Given the description of an element on the screen output the (x, y) to click on. 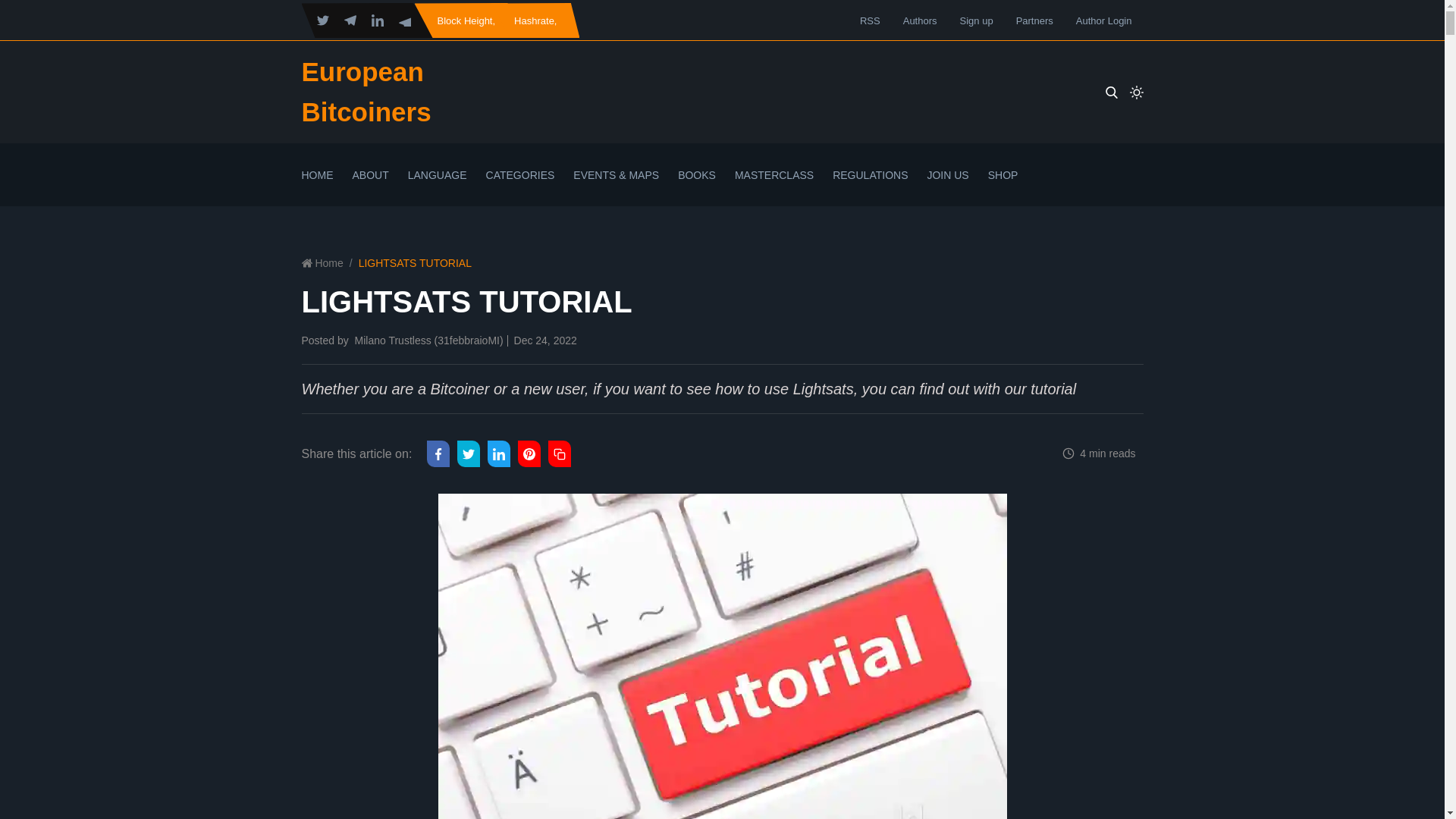
JOIN US (947, 186)
Authors (919, 20)
Sign up (975, 20)
European Bitcoiners (365, 91)
RSS (870, 20)
MASTERCLASS (774, 186)
Author Login (1103, 20)
LANGUAGE (437, 186)
BOOKS (697, 186)
REGULATIONS (869, 186)
ABOUT (370, 186)
Home (322, 263)
Partners (1034, 20)
CATEGORIES (520, 186)
